Given the description of an element on the screen output the (x, y) to click on. 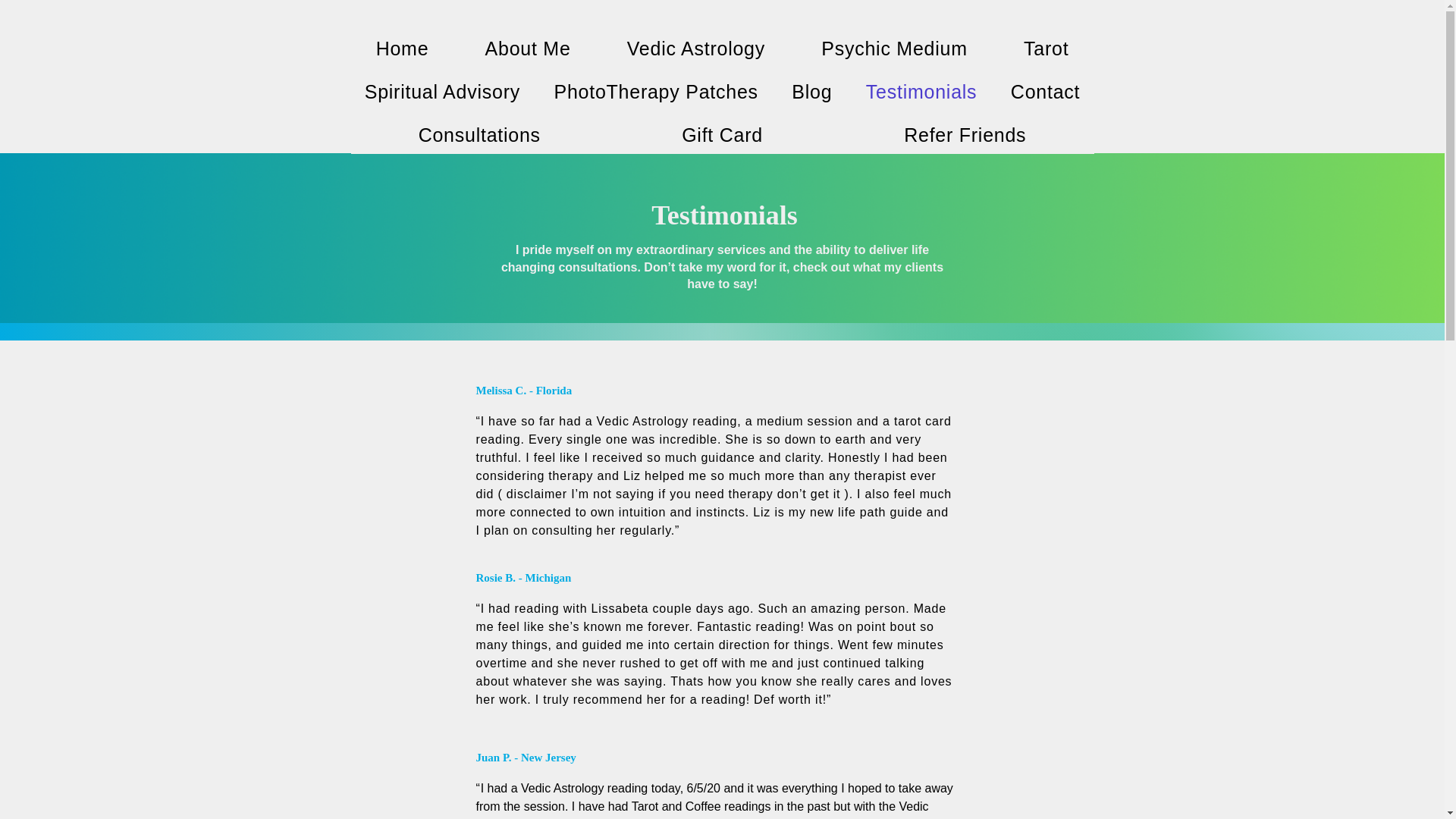
PhotoTherapy Patches (655, 91)
Spiritual Advisory (442, 91)
Tarot (1046, 48)
Vedic Astrology (696, 48)
Gift Card (721, 135)
Consultations (479, 135)
Blog (811, 91)
Home (401, 48)
Contact (1045, 91)
Testimonials (921, 91)
Refer Friends (964, 135)
About Me (527, 48)
Psychic Medium (894, 48)
